Given the description of an element on the screen output the (x, y) to click on. 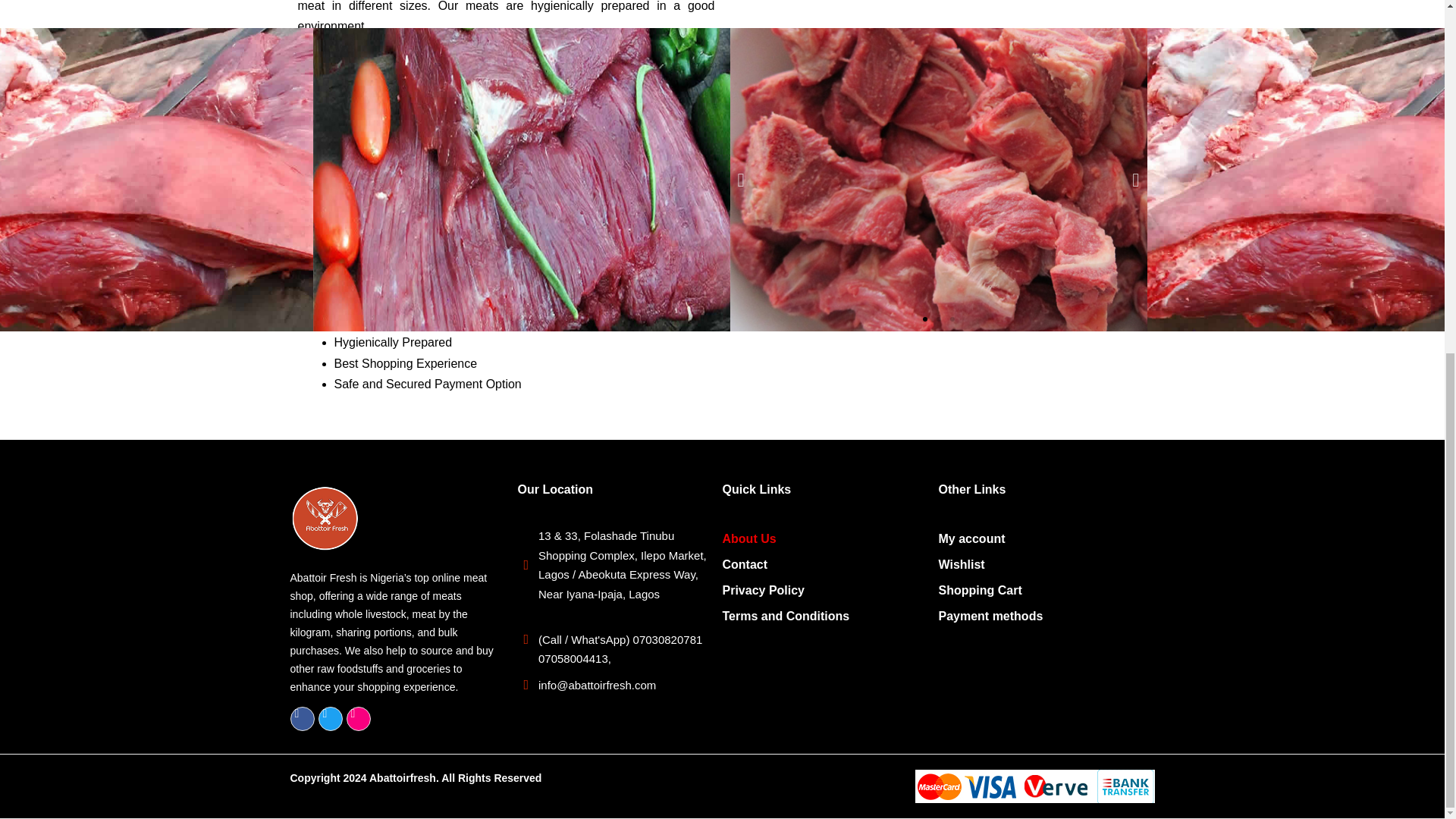
Contact (829, 565)
Privacy Policy (829, 590)
Wishlist (1046, 565)
Terms and Conditions (829, 616)
Payment methods (1046, 616)
My account (1046, 539)
About Us (829, 539)
Shopping Cart (1046, 590)
